Given the description of an element on the screen output the (x, y) to click on. 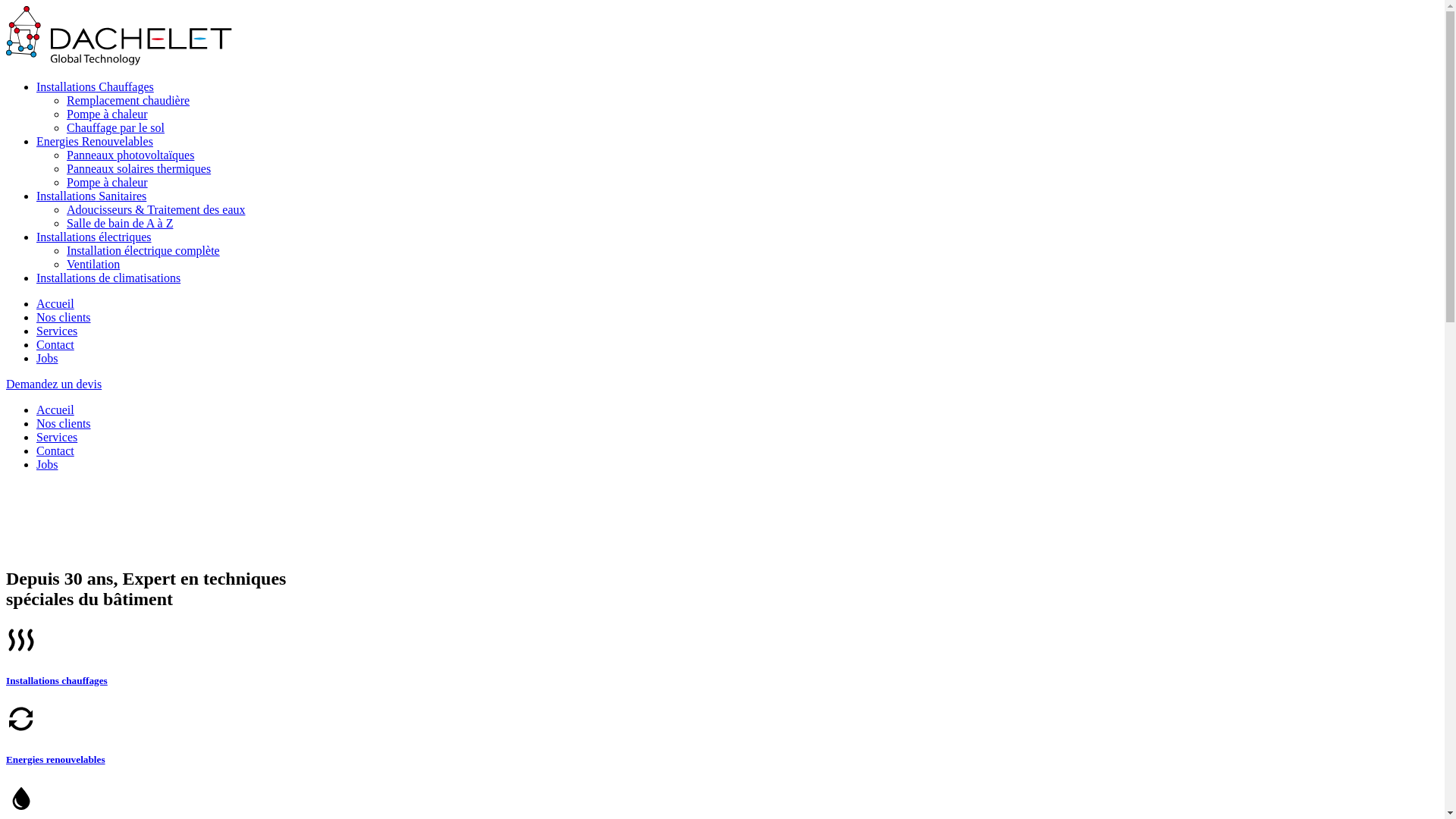
Installations Chauffages Element type: text (94, 86)
Jobs Element type: text (46, 464)
Contact Element type: text (55, 450)
Panneaux solaires thermiques Element type: text (138, 168)
Installations Sanitaires Element type: text (91, 195)
Installations chauffages Element type: text (56, 680)
Installations de climatisations Element type: text (108, 277)
Services Element type: text (56, 330)
Adoucisseurs & Traitement des eaux Element type: text (155, 209)
Accueil Element type: text (55, 303)
Jobs Element type: text (46, 357)
Nos clients Element type: text (63, 316)
Nos clients Element type: text (63, 423)
Accueil Element type: text (55, 409)
Chauffage par le sol Element type: text (115, 127)
Ventilation Element type: text (92, 263)
Services Element type: text (56, 436)
Demandez un devis Element type: text (53, 383)
Energies Renouvelables Element type: text (94, 140)
Contact Element type: text (55, 344)
Energies renouvelables Element type: text (55, 759)
